Given the description of an element on the screen output the (x, y) to click on. 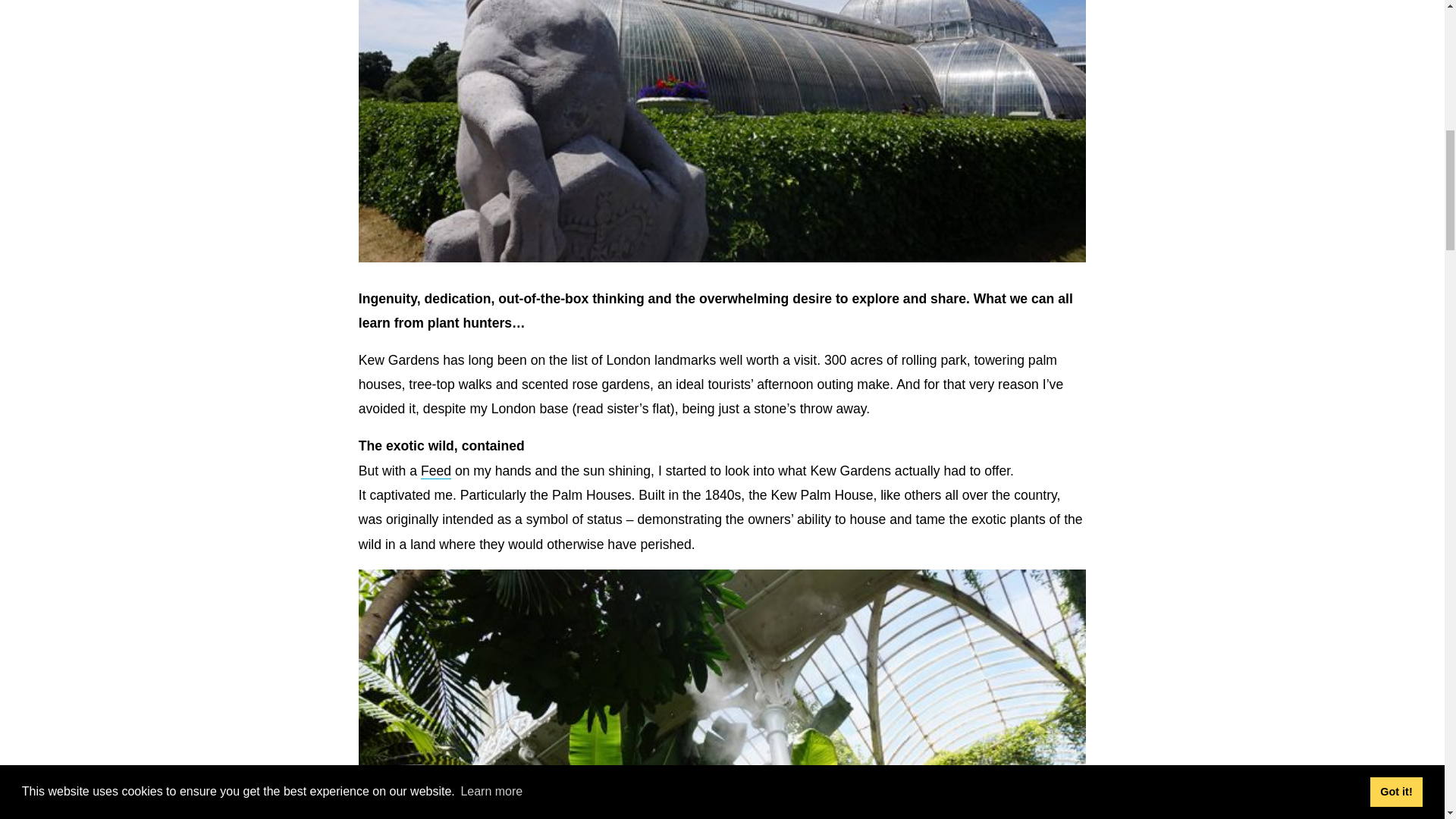
Feed (435, 471)
Feed (435, 471)
